Given the description of an element on the screen output the (x, y) to click on. 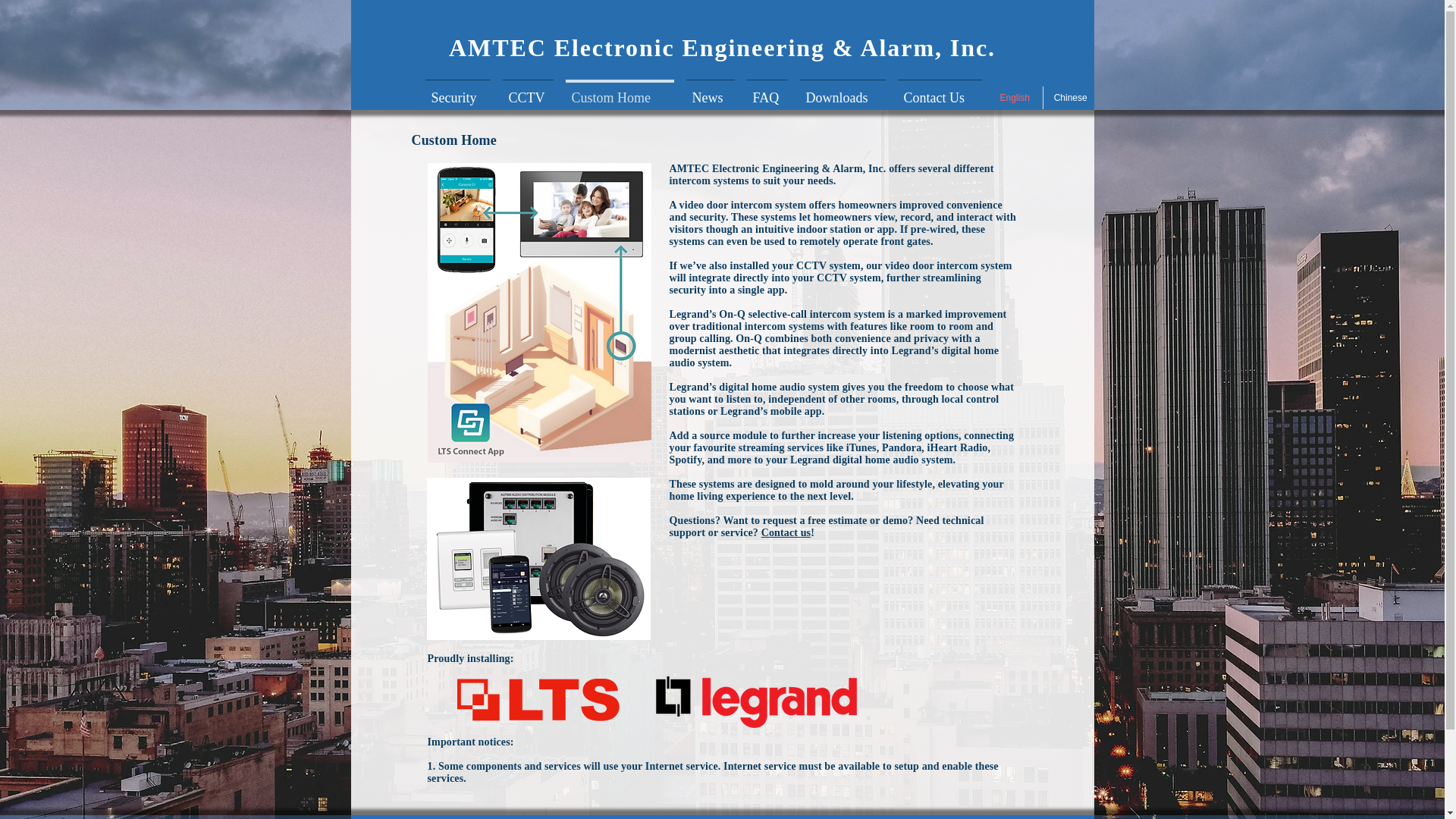
Downloads (842, 90)
Legrand logo (757, 701)
CCTV (527, 90)
Contact us (785, 532)
English (1015, 97)
Home audio devices (537, 558)
LTS logo (540, 699)
FAQ (766, 90)
Contact Us (939, 90)
News (709, 90)
Security (457, 90)
Chinese (1071, 97)
Custom Home (619, 90)
